Given the description of an element on the screen output the (x, y) to click on. 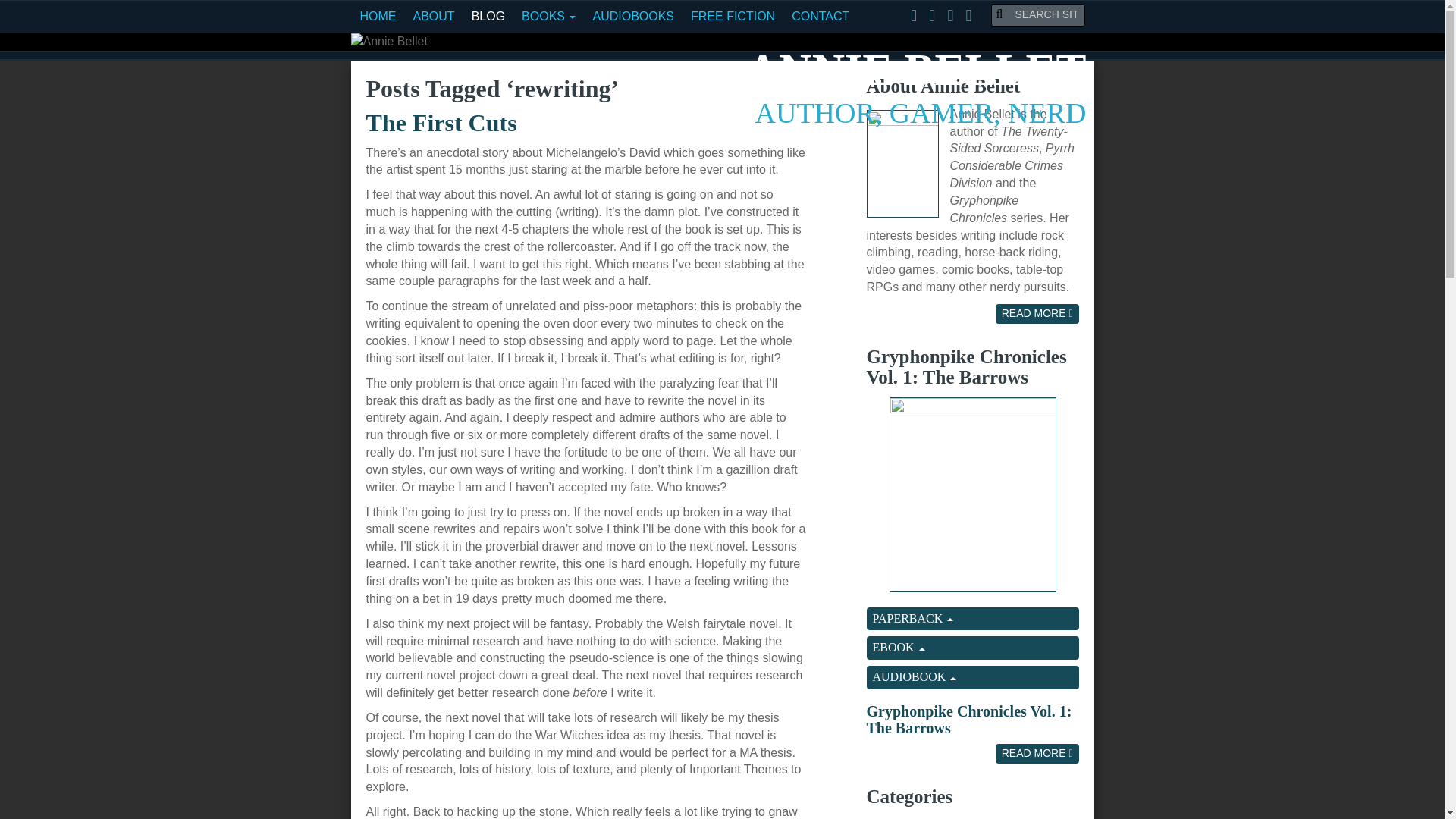
CONTACT (820, 16)
BLOG (488, 16)
Audiobooks (632, 16)
Home (378, 16)
ABOUT (433, 16)
ANNIE BELLET (915, 70)
BOOKS (548, 16)
READ MORE (1036, 313)
Books (548, 16)
The First Cuts (440, 122)
Free Fiction (732, 16)
About (433, 16)
AUDIOBOOKS (632, 16)
PAPERBACK (972, 618)
HOME (378, 16)
